Given the description of an element on the screen output the (x, y) to click on. 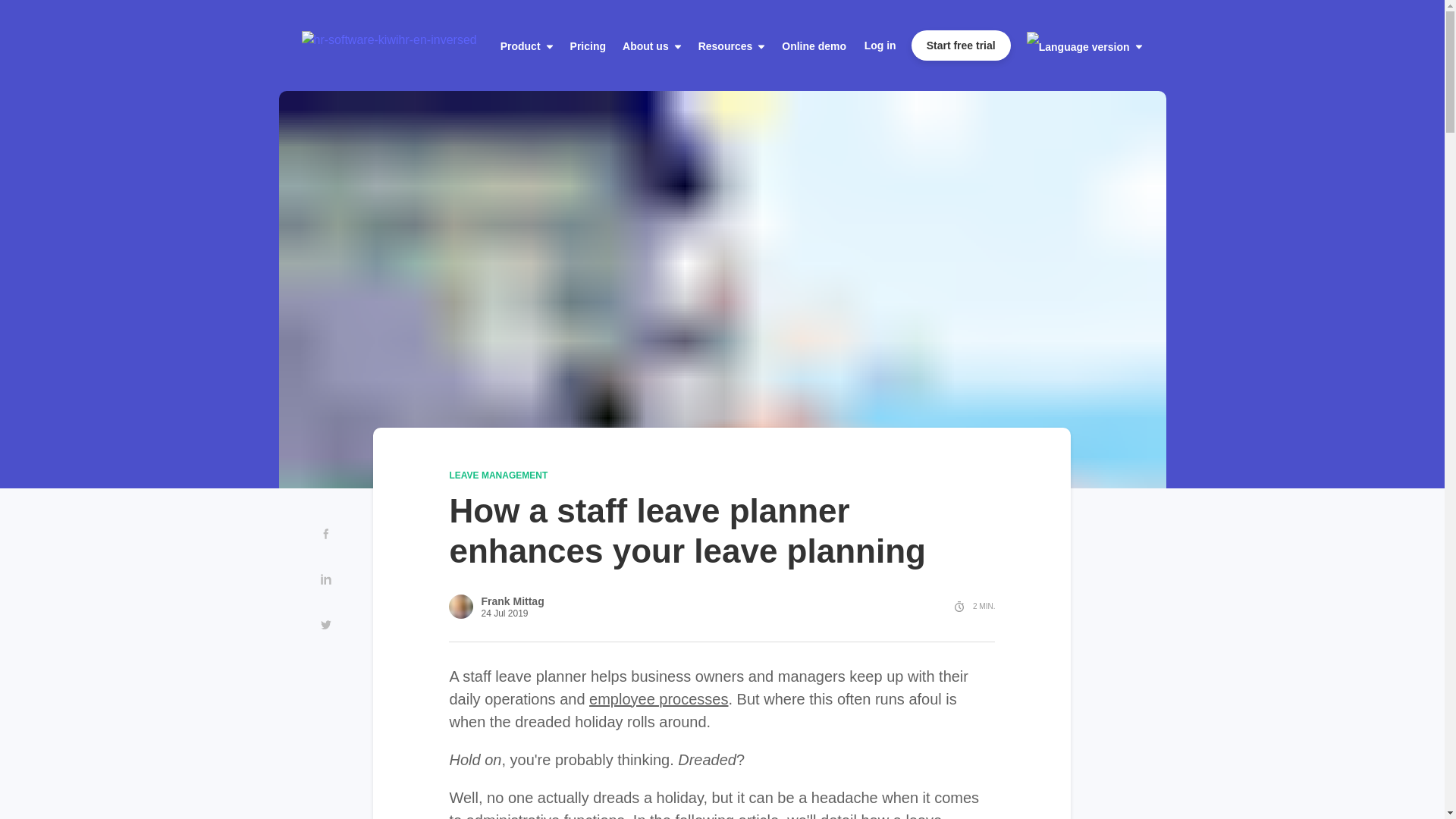
Online demo (813, 46)
About us (651, 46)
Resources (732, 46)
Log in (880, 45)
Sign in (880, 45)
Pricing (588, 46)
Try for free (960, 45)
Start free trial (960, 45)
hr-software-kiwihr-en-inversed (389, 40)
employee processes (658, 699)
